Given the description of an element on the screen output the (x, y) to click on. 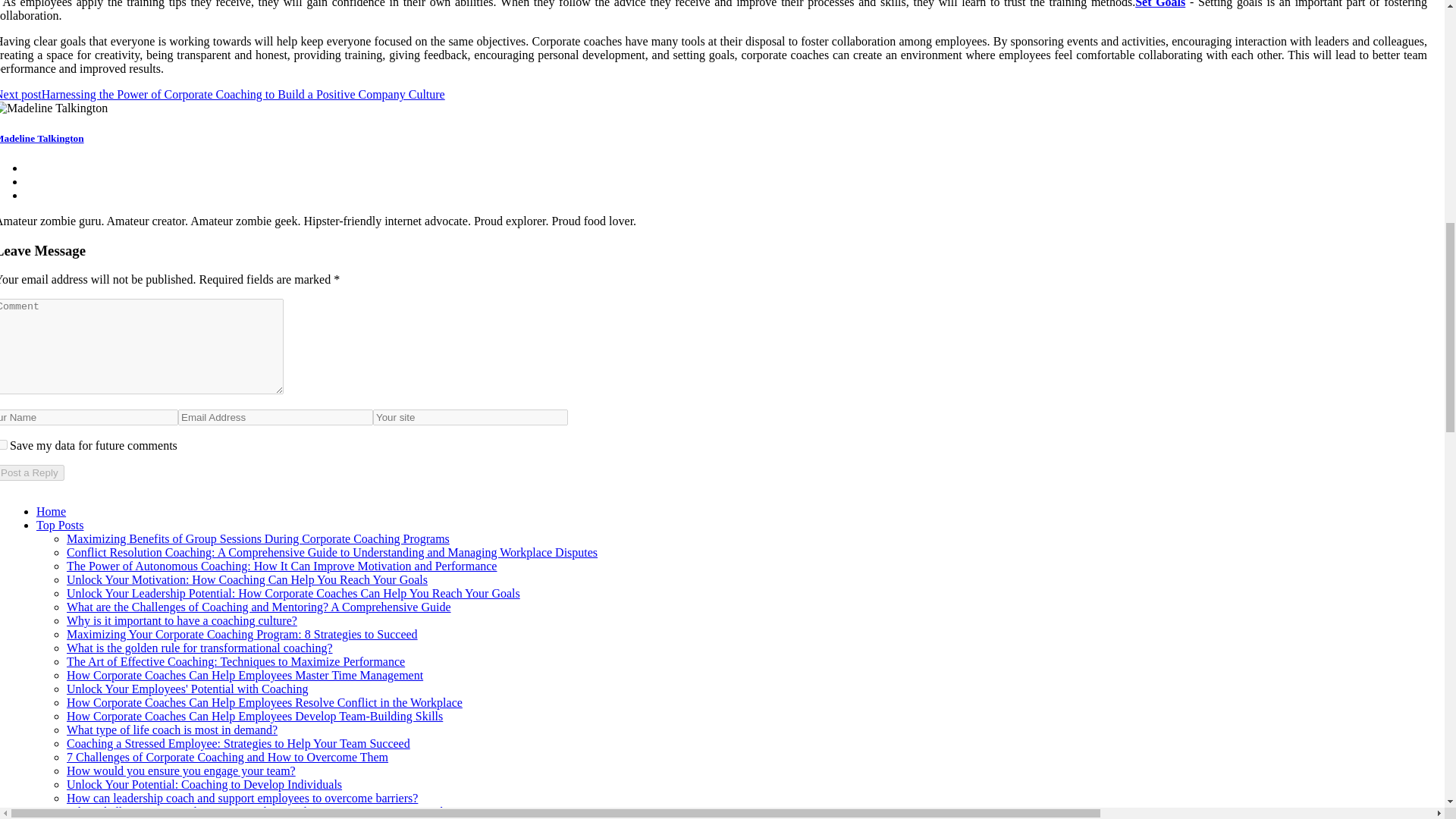
Unlock Your Employees' Potential with Coaching (186, 688)
What is the golden rule for transformational coaching? (199, 647)
Post a Reply (32, 472)
7 Challenges of Corporate Coaching and How to Overcome Them (227, 757)
